Given the description of an element on the screen output the (x, y) to click on. 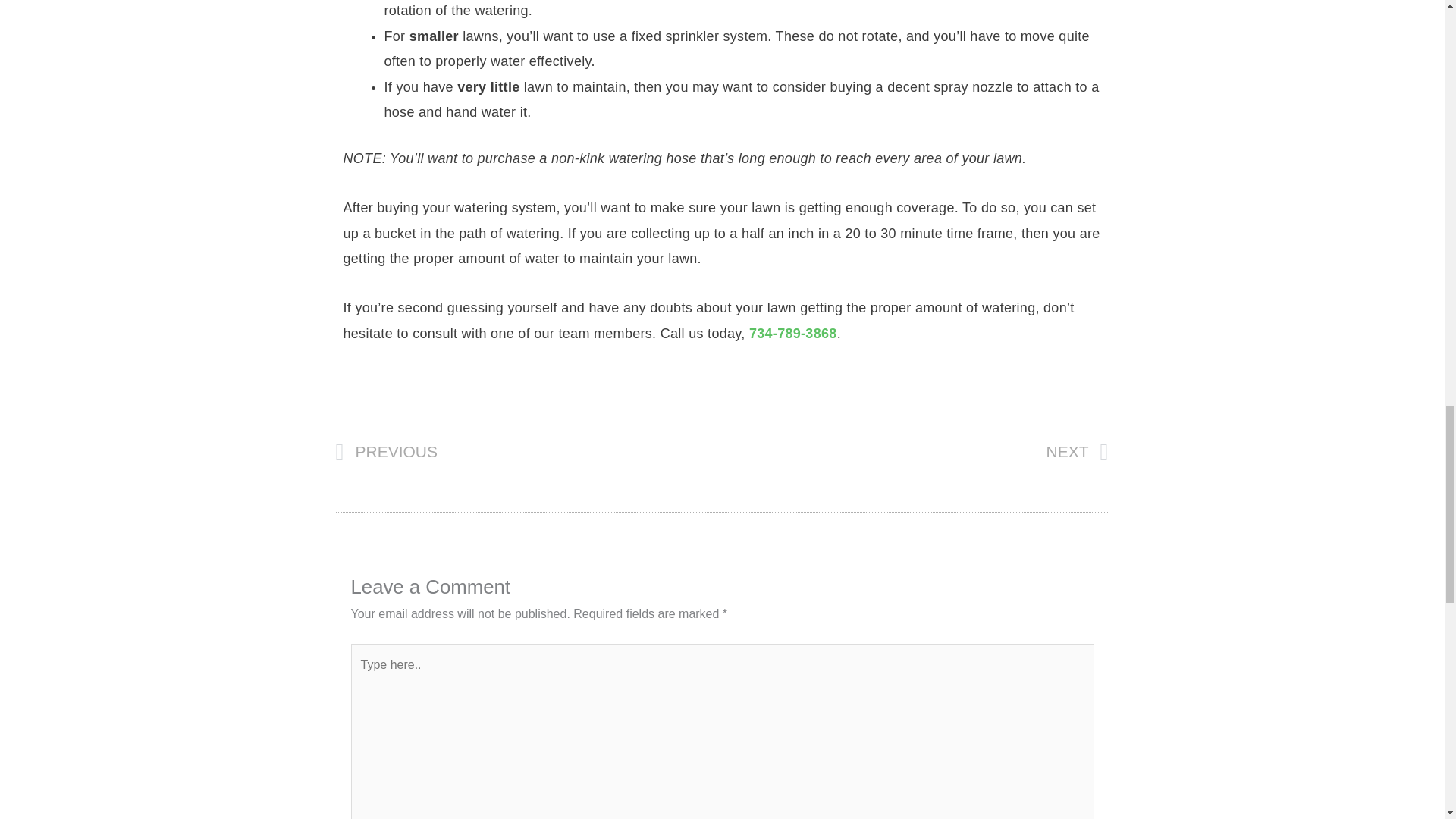
734-789-3868 (528, 452)
